Given the description of an element on the screen output the (x, y) to click on. 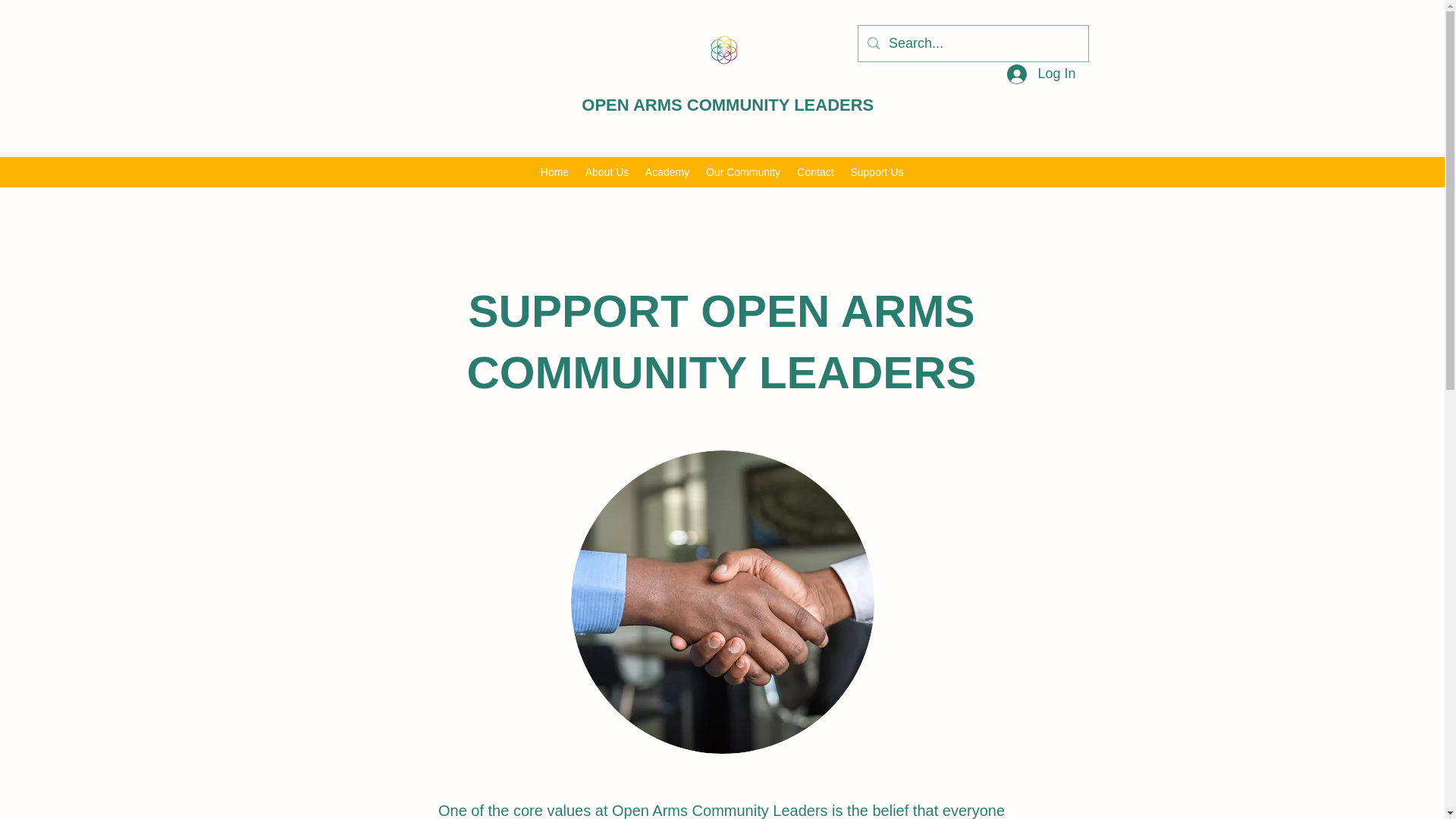
OPEN ARMS COMMUNITY LEADERS (726, 104)
About Us (606, 171)
Support Us (876, 171)
Log In (1040, 73)
Contact (815, 171)
Academy (667, 171)
Home (554, 171)
Our Community (743, 171)
